Given the description of an element on the screen output the (x, y) to click on. 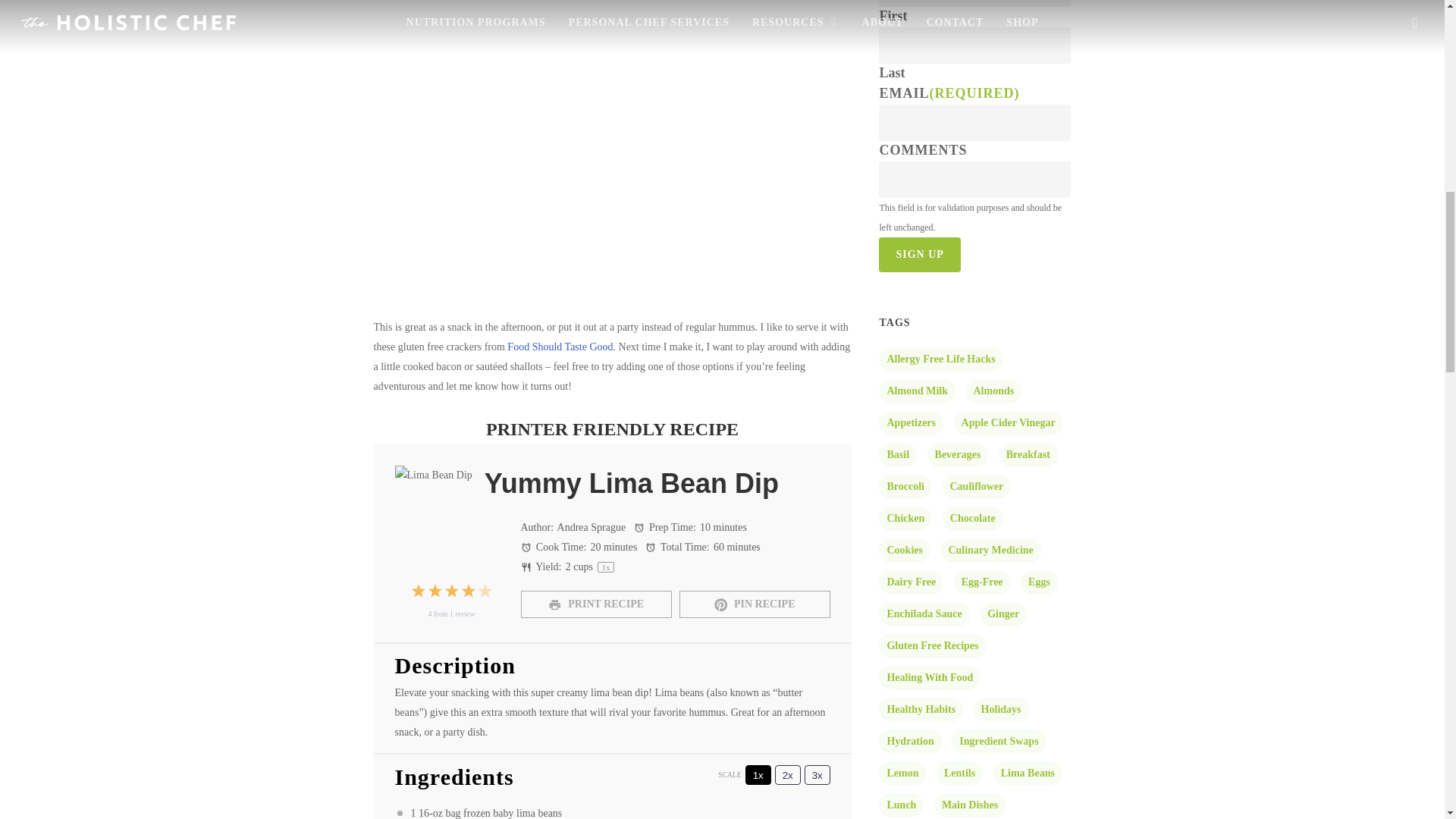
Appetizers (911, 422)
Almond Milk (917, 391)
2x (787, 774)
Sign Up (919, 254)
Sign Up (919, 254)
3x (817, 774)
PIN RECIPE (754, 604)
1x (758, 774)
Allergy Free Life Hacks (941, 359)
Apple Cider Vinegar (1007, 422)
